Given the description of an element on the screen output the (x, y) to click on. 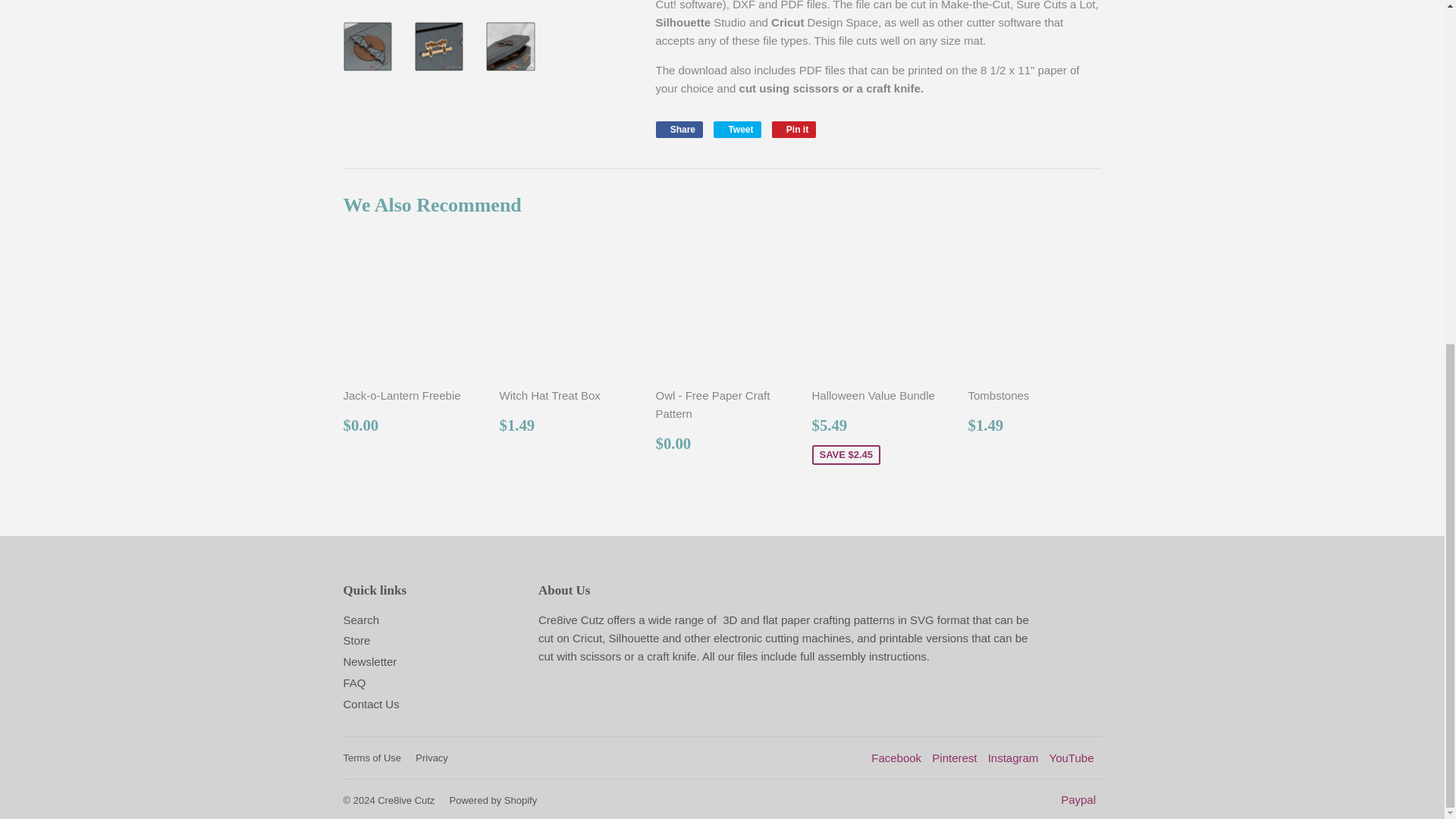
Share on Facebook (679, 128)
Cre8ive Cutz on YouTube (1071, 757)
Cre8ive Cutz on Facebook (895, 757)
Cre8ive Cutz on Instagram (1013, 757)
Cre8ive Cutz on Pinterest (953, 757)
Pin on Pinterest (793, 128)
Tweet on Twitter (736, 128)
